Given the description of an element on the screen output the (x, y) to click on. 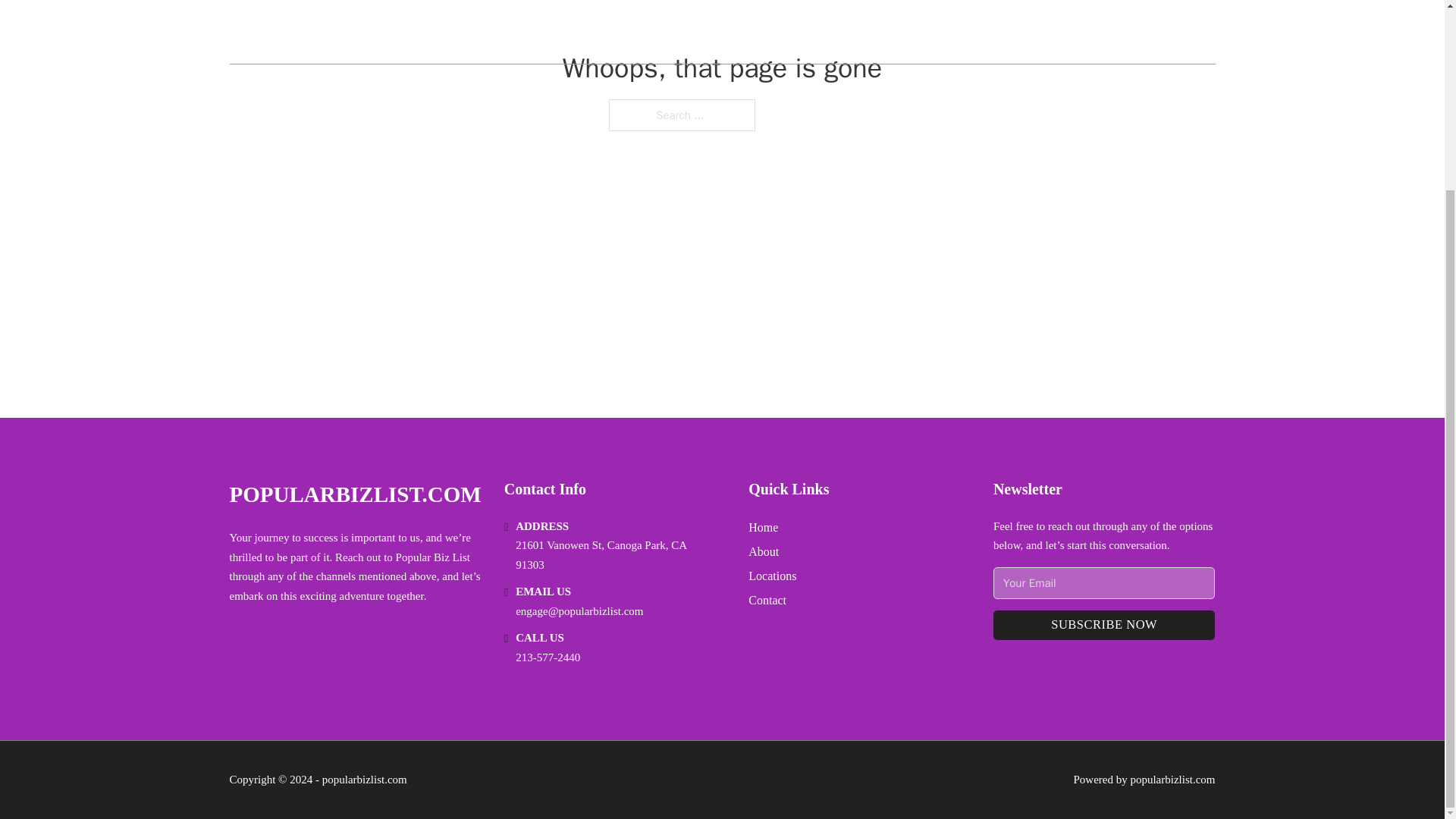
Home (762, 526)
POPULARBIZLIST.COM (354, 494)
Contact (767, 599)
SUBSCRIBE NOW (1103, 624)
Locations (772, 575)
213-577-2440 (547, 657)
About (763, 551)
